Given the description of an element on the screen output the (x, y) to click on. 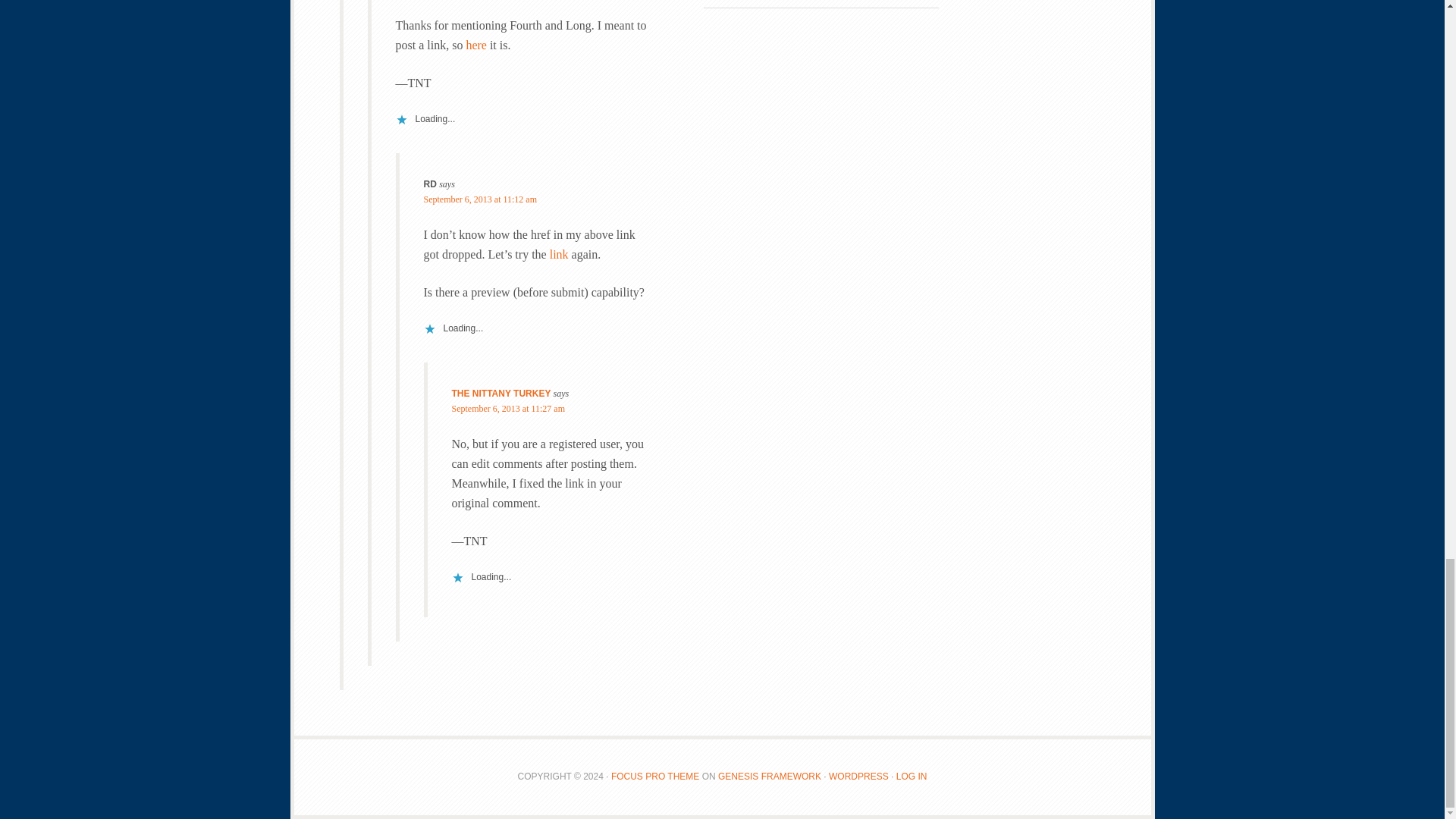
September 6, 2013 at 11:12 am (480, 199)
link (559, 254)
here (475, 44)
